Given the description of an element on the screen output the (x, y) to click on. 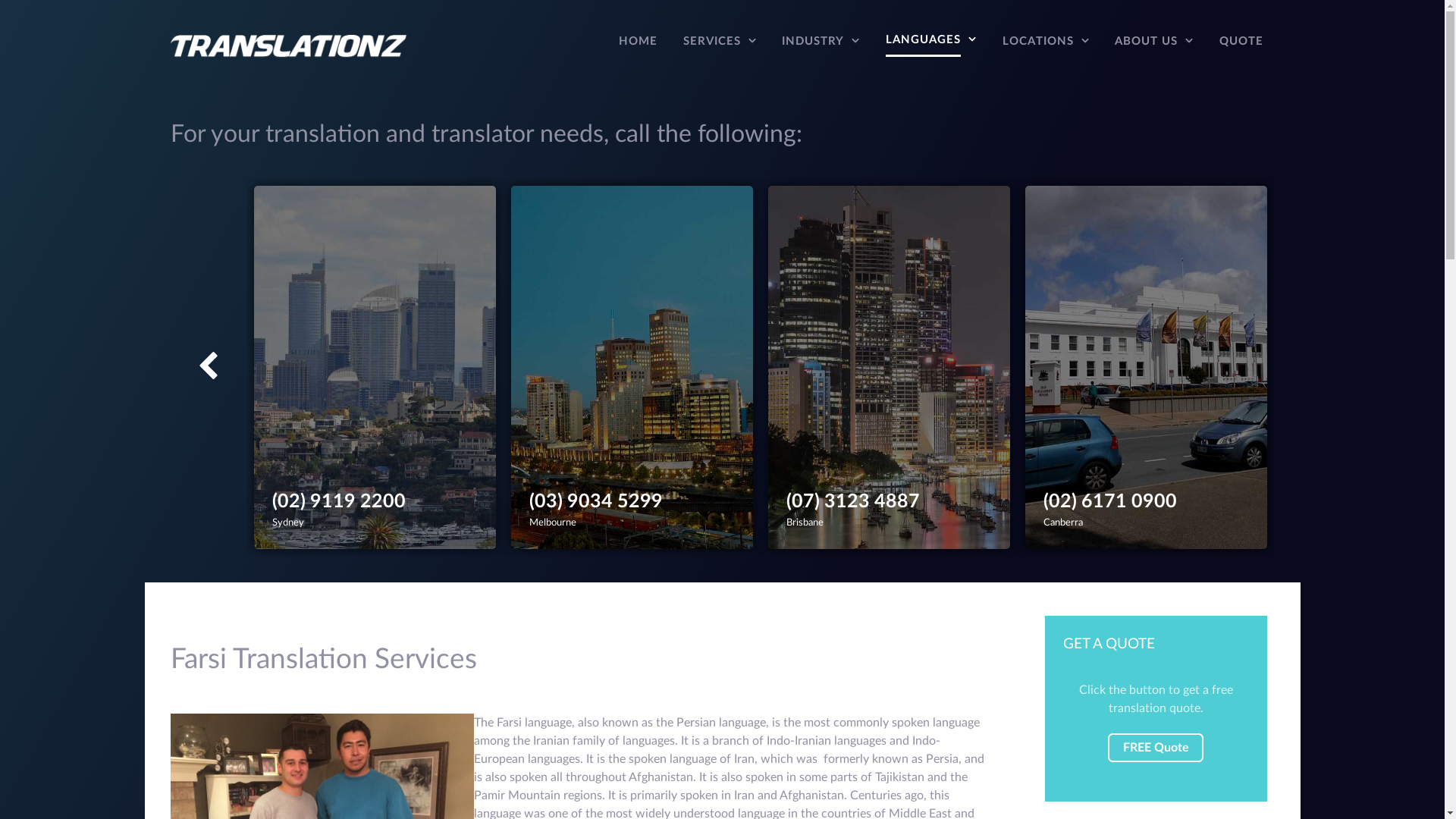
(02) 6171 0900
Canberra Element type: text (1146, 367)
Translation Services Company - Australia Element type: hover (288, 45)
(07) 3123 4887
Brisbane Element type: text (888, 367)
QUOTE Element type: text (1241, 45)
(02) 9119 2200
Sydney Element type: text (374, 367)
HOME Element type: text (637, 45)
(03) 9034 5299
Melbourne Element type: text (632, 367)
FREE Quote Element type: text (1155, 747)
